Given the description of an element on the screen output the (x, y) to click on. 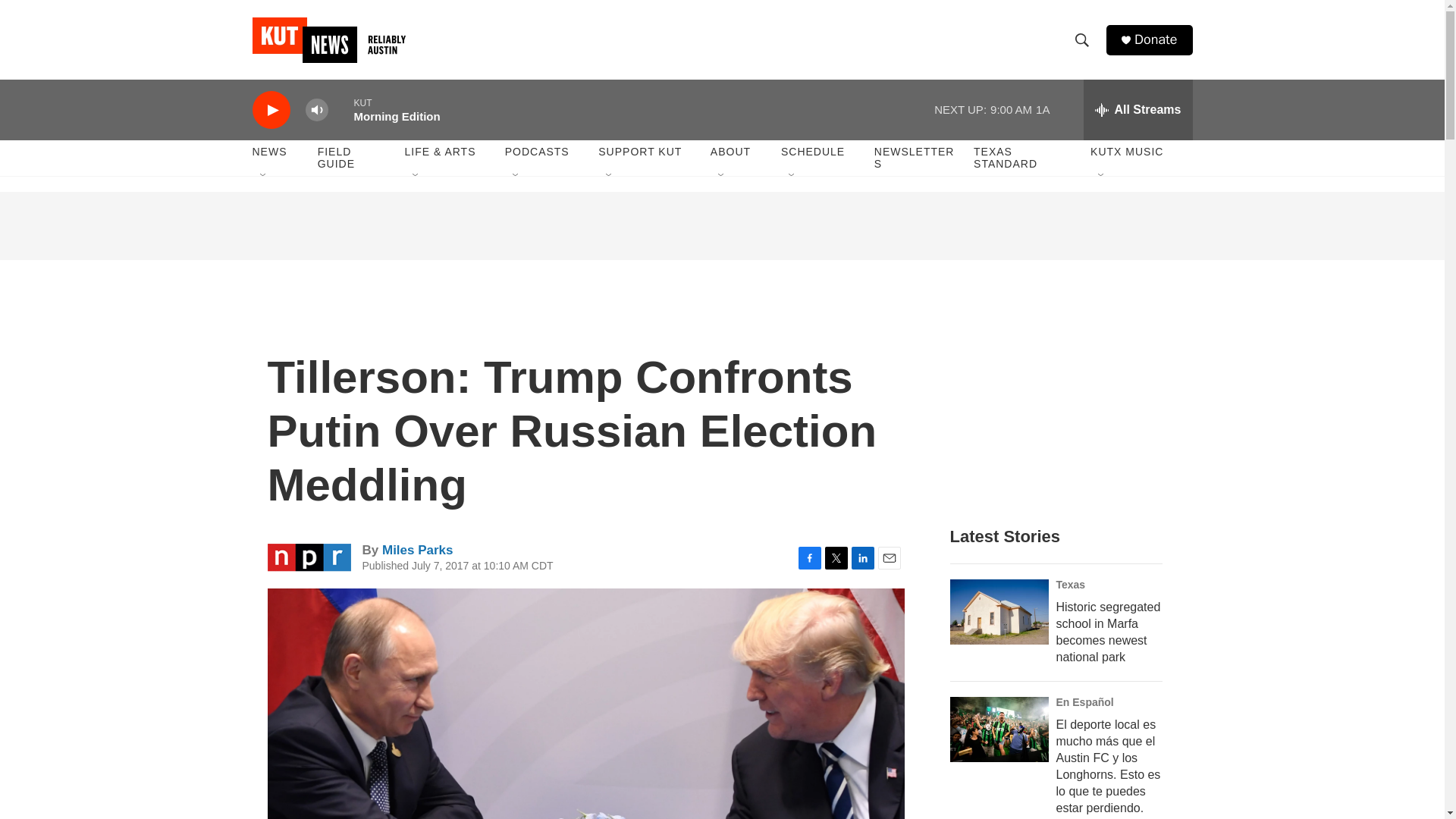
3rd party ad content (722, 225)
3rd party ad content (1062, 400)
